Given the description of an element on the screen output the (x, y) to click on. 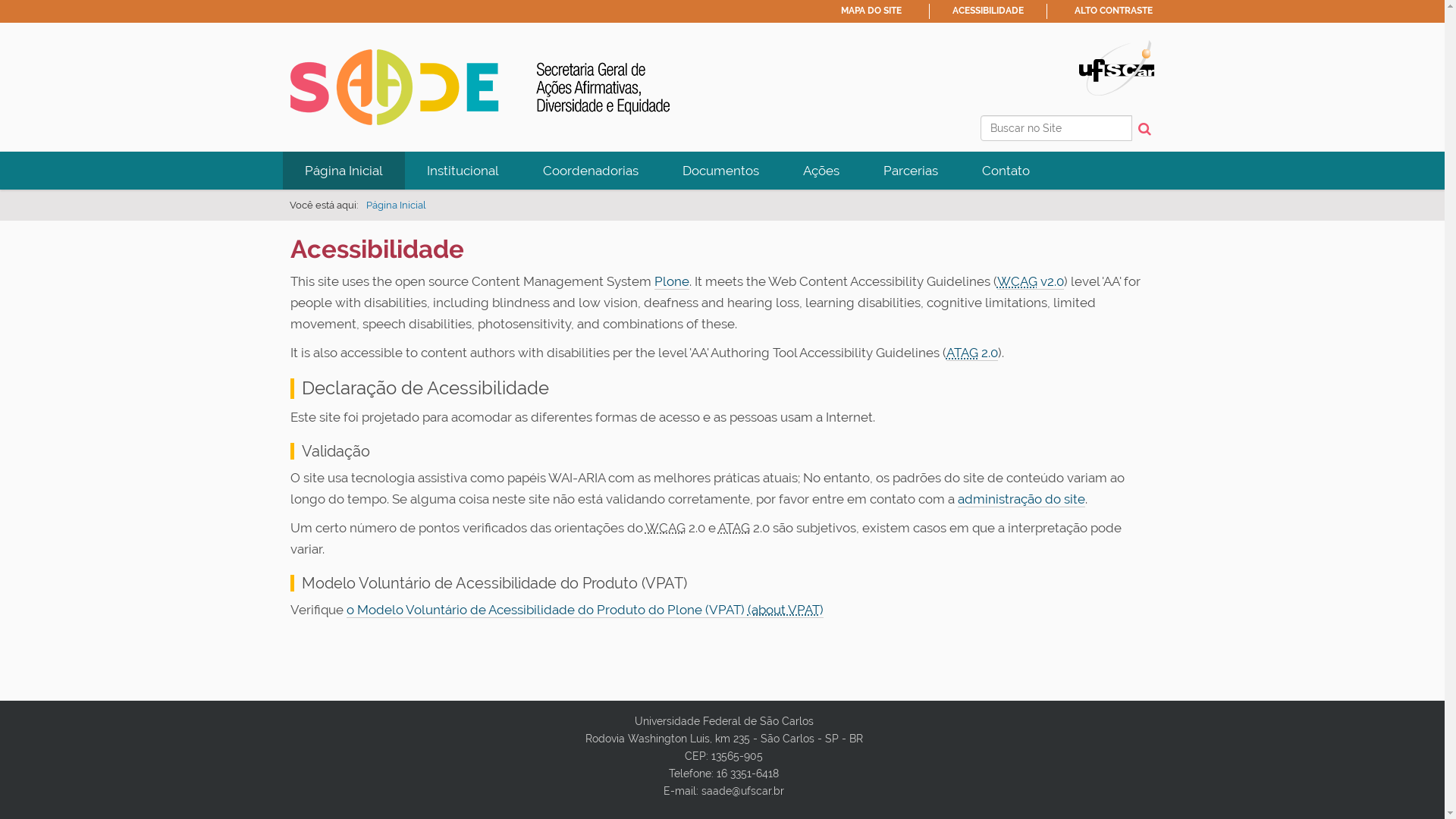
(about VPAT) Element type: text (785, 610)
MAPA DO SITE Element type: text (870, 10)
Documentos Element type: text (719, 170)
ACESSIBILIDADE Element type: text (987, 10)
Institucional Element type: text (462, 170)
ATAG 2.0 Element type: text (971, 352)
ALTO CONTRASTE Element type: text (1112, 10)
Contato Element type: text (1005, 170)
Coordenadorias Element type: text (589, 170)
Parcerias Element type: text (910, 170)
Portal UFSCar Element type: hover (1116, 66)
Buscar no Site Element type: hover (1055, 128)
WCAG v2.0 Element type: text (1029, 281)
Plone Element type: text (670, 281)
